Given the description of an element on the screen output the (x, y) to click on. 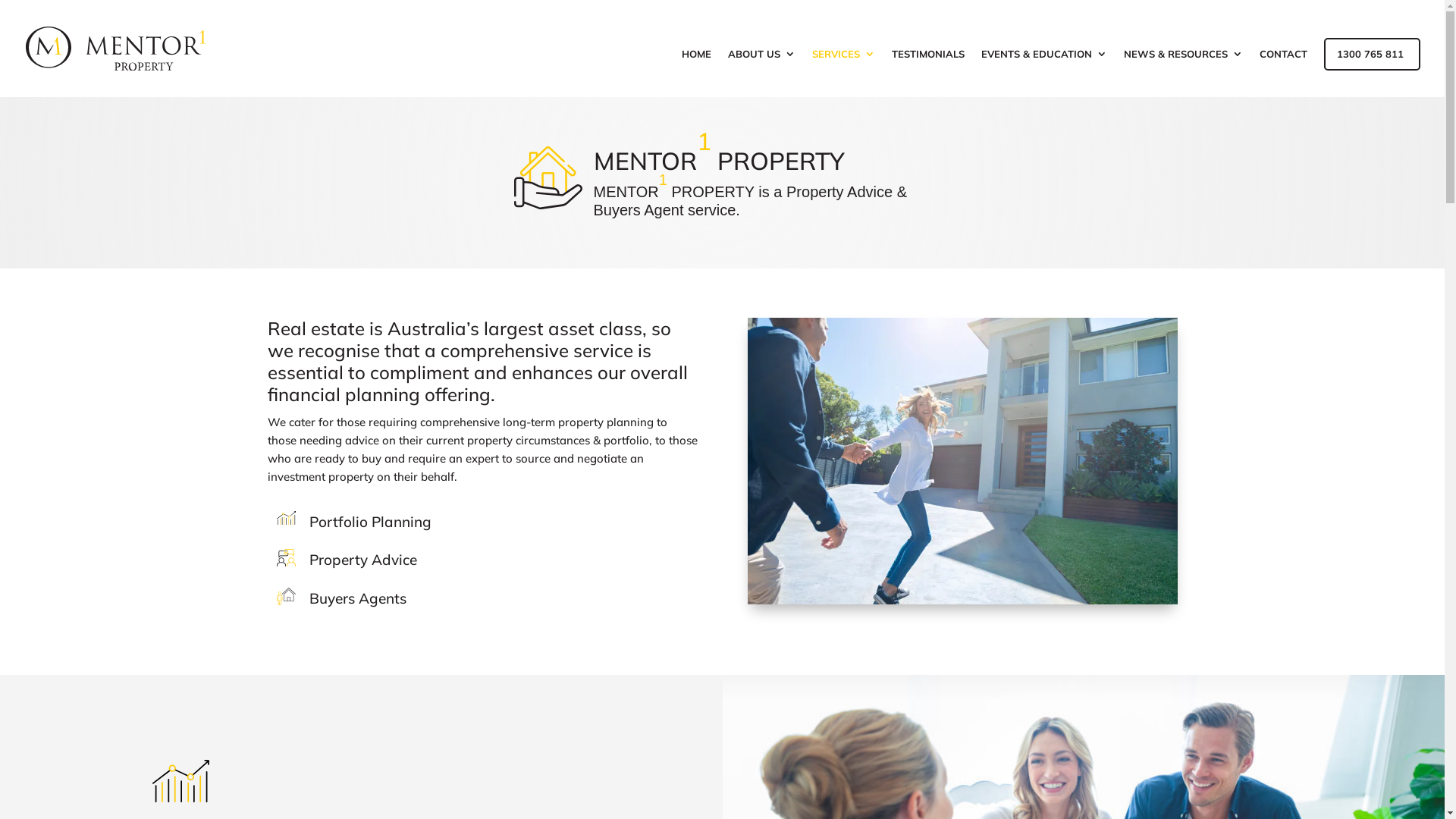
SERVICES Element type: text (843, 72)
ABOUT US Element type: text (761, 72)
TESTIMONIALS Element type: text (927, 72)
NEWS & RESOURCES Element type: text (1182, 72)
HOME Element type: text (696, 72)
1300 765 811 Element type: text (1369, 72)
EVENTS & EDUCATION Element type: text (1044, 72)
CONTACT Element type: text (1283, 72)
